Given the description of an element on the screen output the (x, y) to click on. 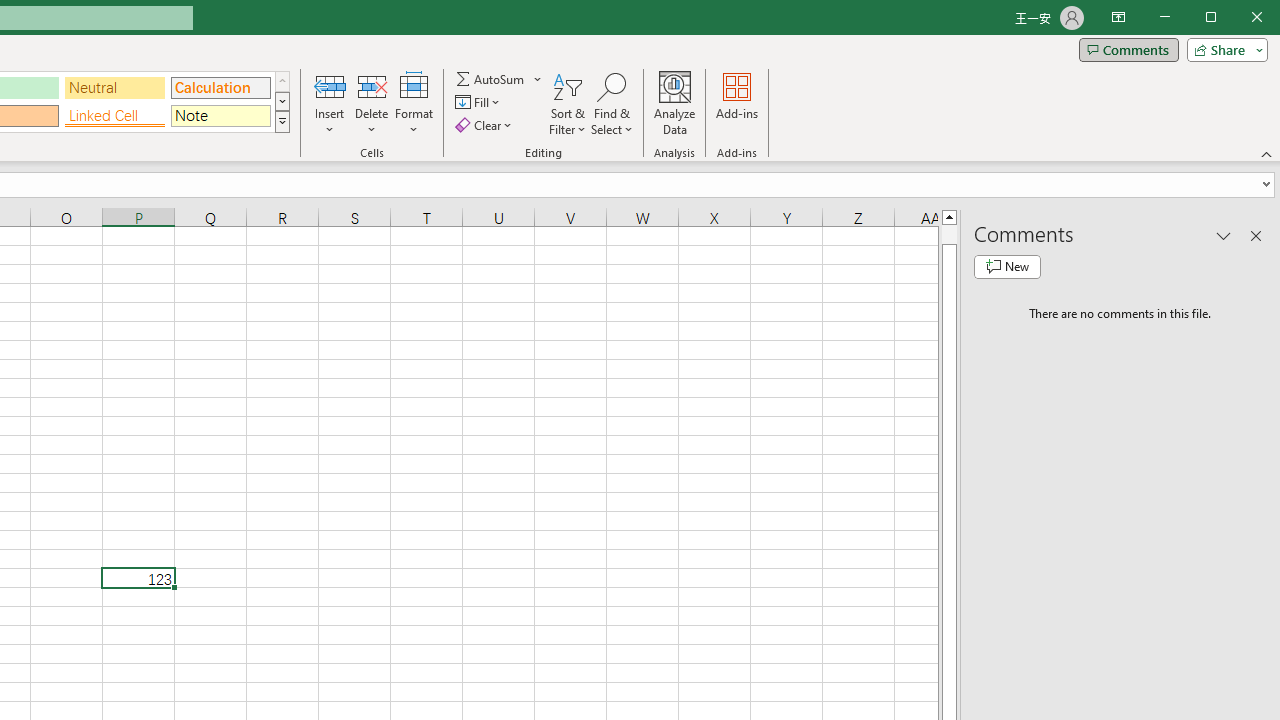
Linked Cell (114, 116)
Neutral (114, 88)
Delete (371, 104)
Cell Styles (282, 121)
AutoSum (498, 78)
Page up (948, 234)
